Given the description of an element on the screen output the (x, y) to click on. 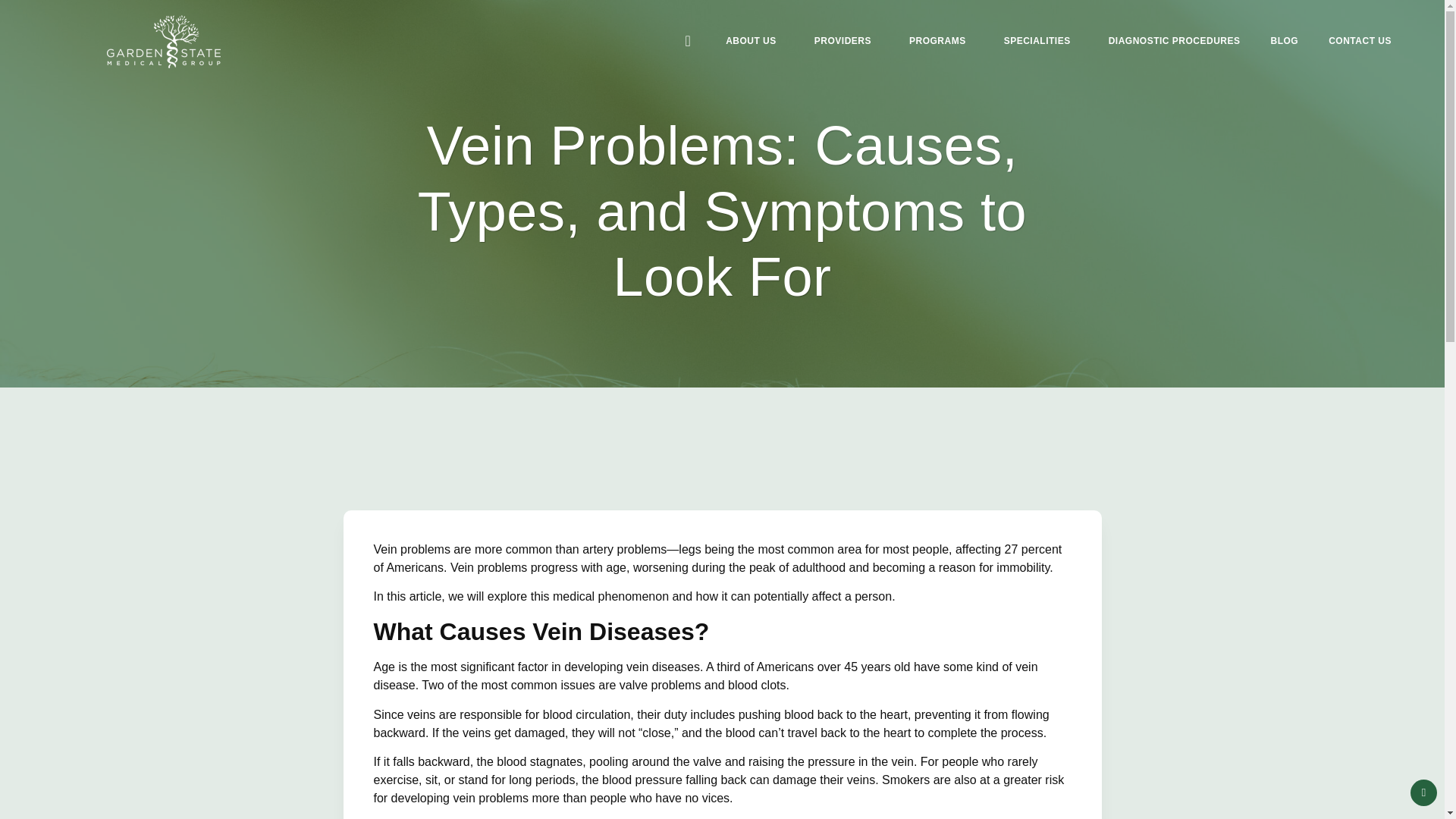
DIAGNOSTIC PROCEDURES (1174, 23)
PROGRAMS (940, 5)
SPECIALITIES (1040, 16)
CONTACT US (1359, 27)
BLOG (1284, 24)
